Given the description of an element on the screen output the (x, y) to click on. 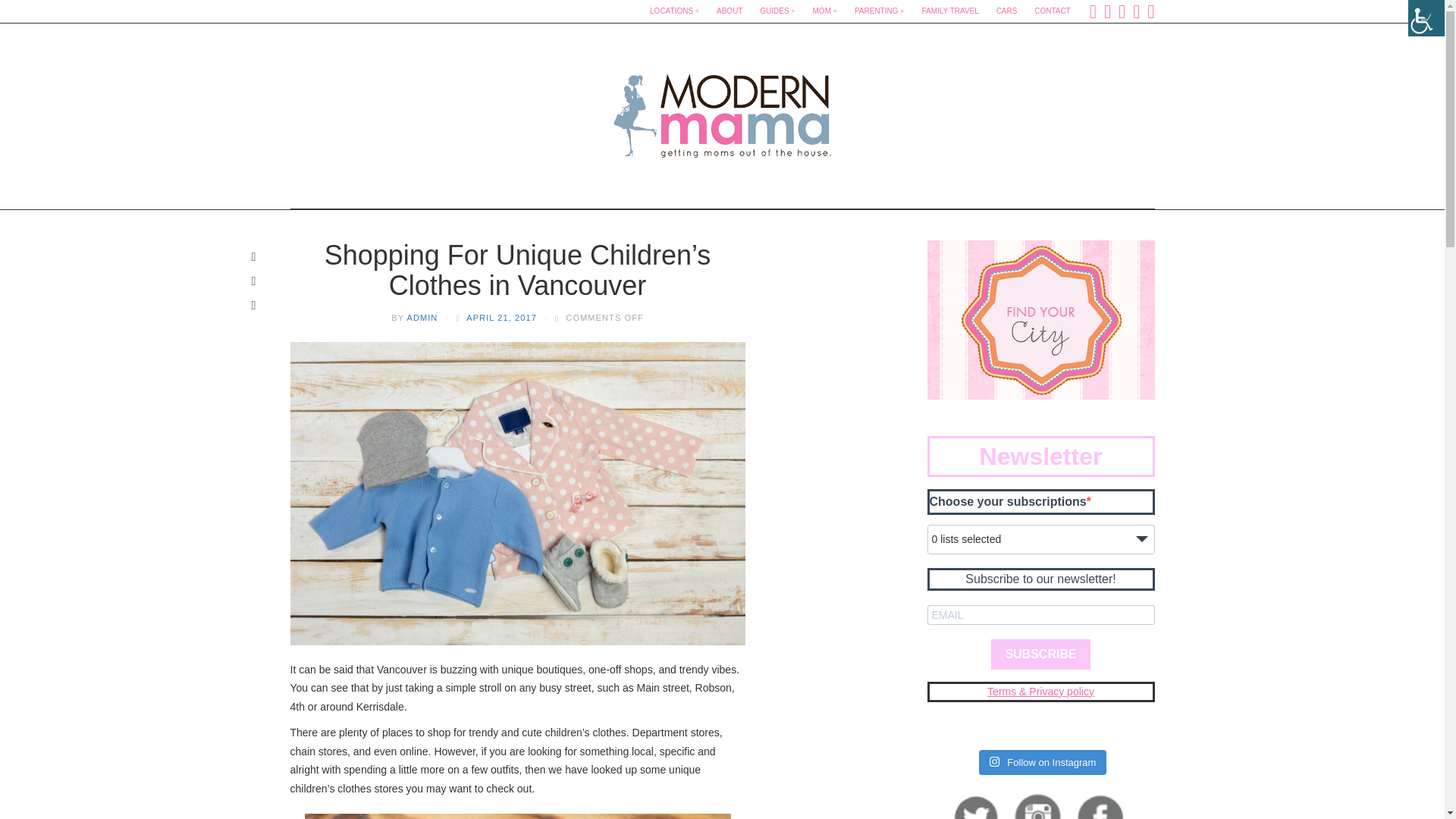
Pinterest (1136, 10)
Modern Mama (722, 111)
ABOUT (729, 11)
APRIL 21, 2017 (501, 317)
GUIDES (777, 11)
LOCATIONS (674, 11)
MOM (825, 11)
PARENTING (879, 11)
Share on Twitter (253, 304)
ADMIN (422, 317)
CONTACT (1052, 11)
Twitter (1106, 10)
Pin this Post (253, 280)
RSS Feed (1150, 10)
Share on Facebook (253, 256)
